Given the description of an element on the screen output the (x, y) to click on. 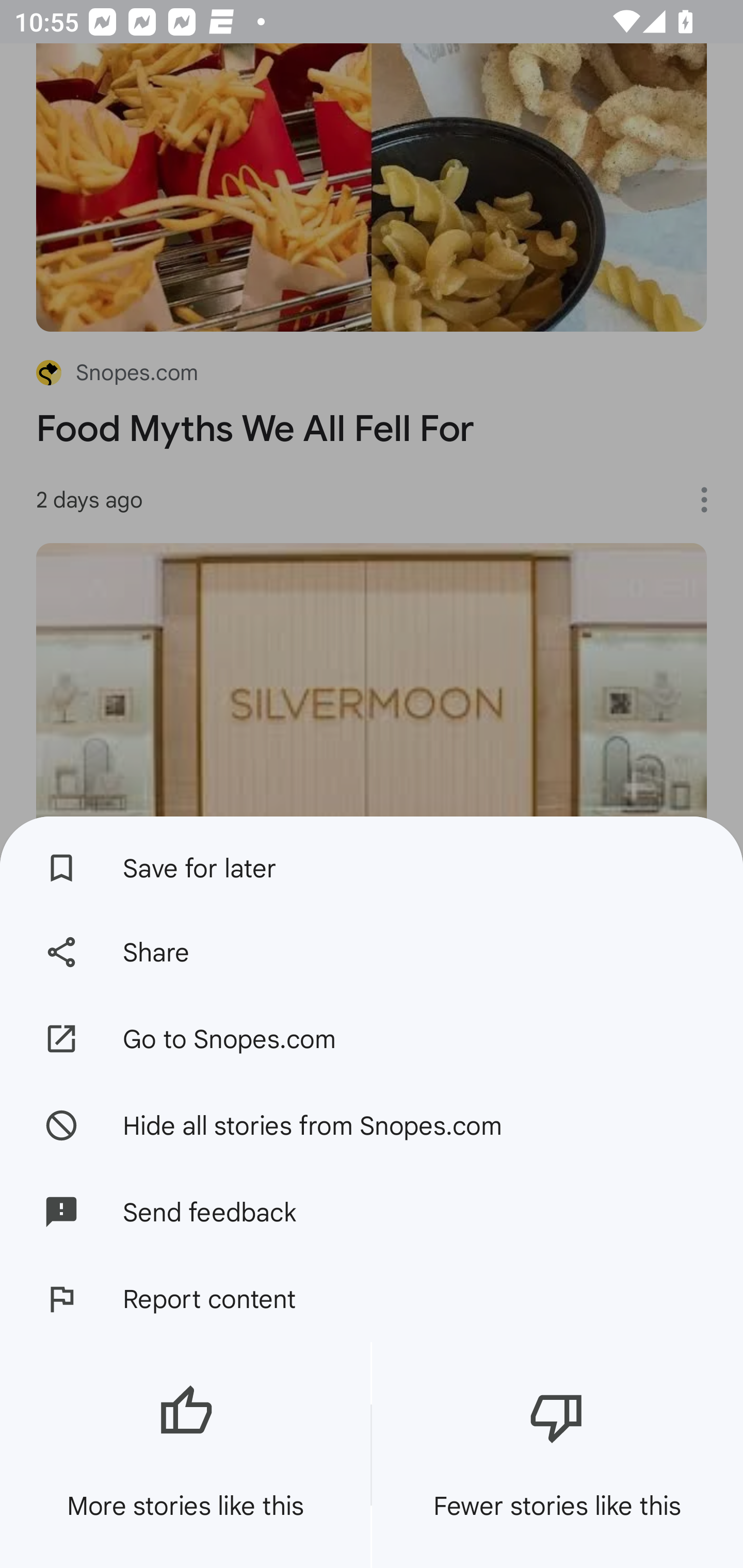
Save for later (371, 862)
Share (371, 952)
Go to Snopes.com (371, 1038)
Hide all stories from Snopes.com (371, 1124)
Send feedback (371, 1211)
Report content (371, 1298)
More stories like this (185, 1455)
Fewer stories like this (557, 1455)
